Given the description of an element on the screen output the (x, y) to click on. 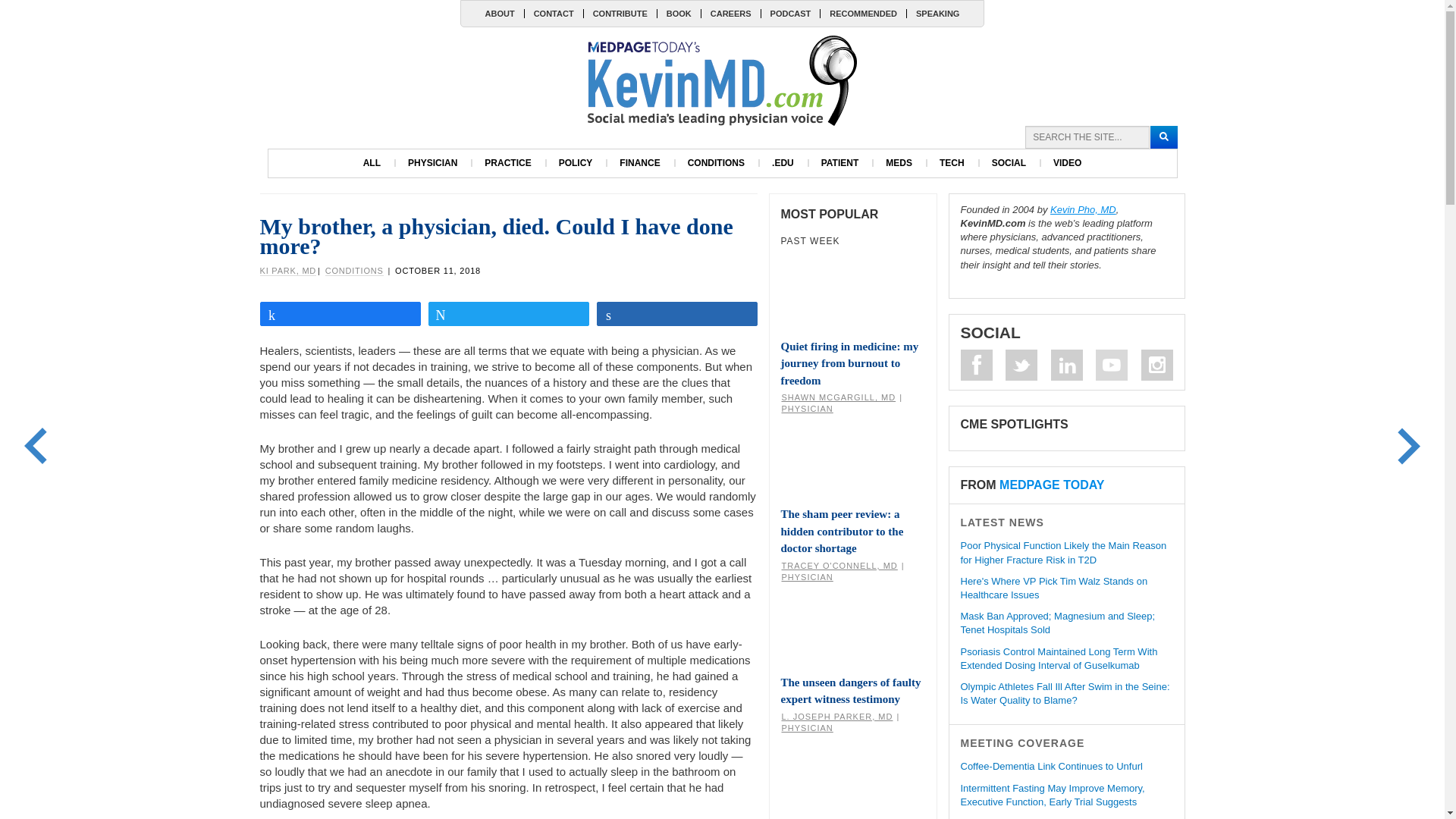
VIDEO (1066, 163)
CONTACT (553, 13)
FINANCE (638, 163)
ALL (371, 163)
CAREERS (730, 13)
PHYSICIAN (432, 163)
CONDITIONS (716, 163)
BOOK (678, 13)
TECH (952, 163)
SPEAKING (936, 13)
PRACTICE (507, 163)
MEDS (899, 163)
ABOUT (500, 13)
SOCIAL (1008, 163)
POLICY (575, 163)
